Given the description of an element on the screen output the (x, y) to click on. 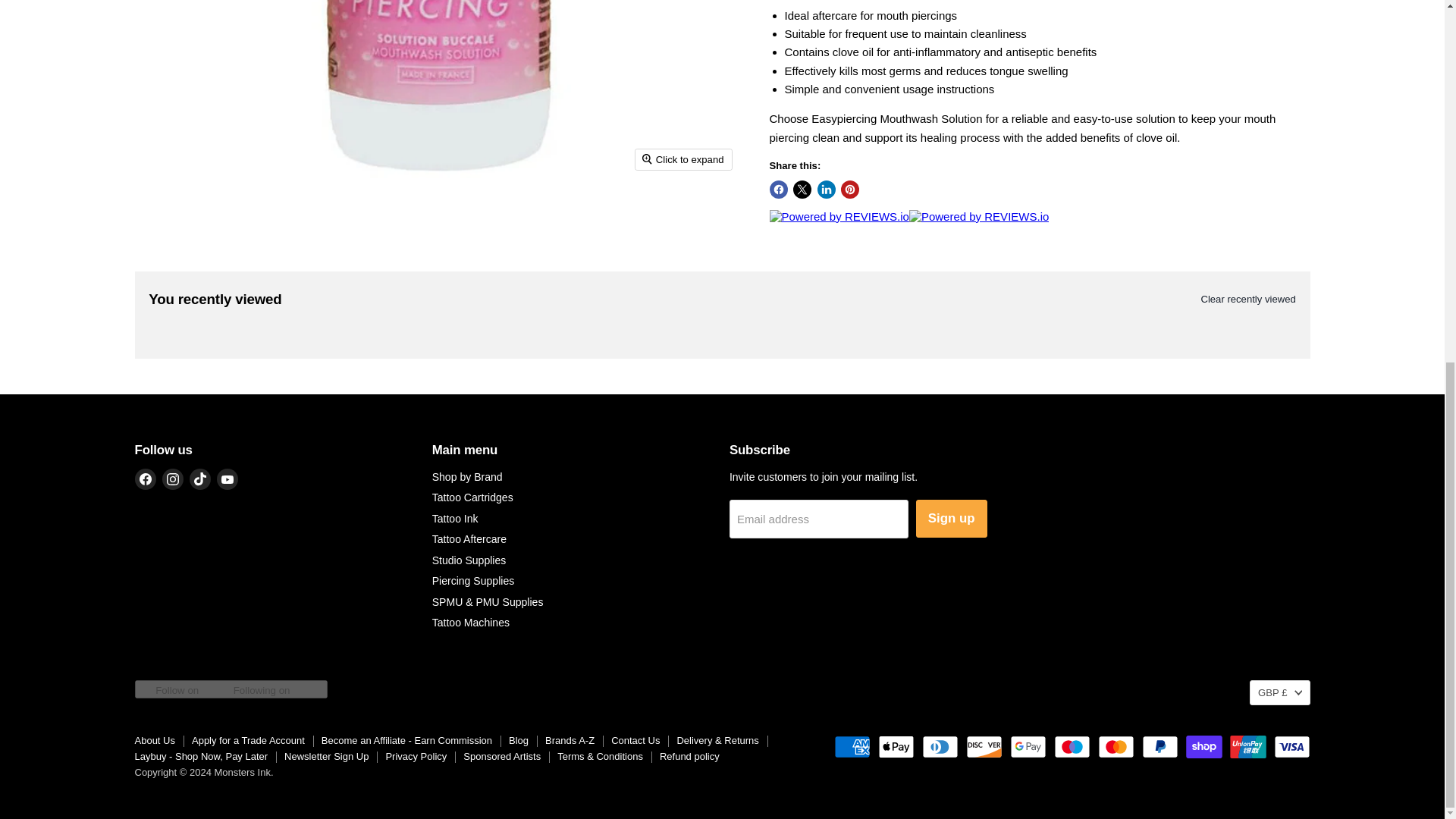
TikTok (200, 478)
Facebook (145, 478)
YouTube (227, 478)
Instagram (172, 478)
